Given the description of an element on the screen output the (x, y) to click on. 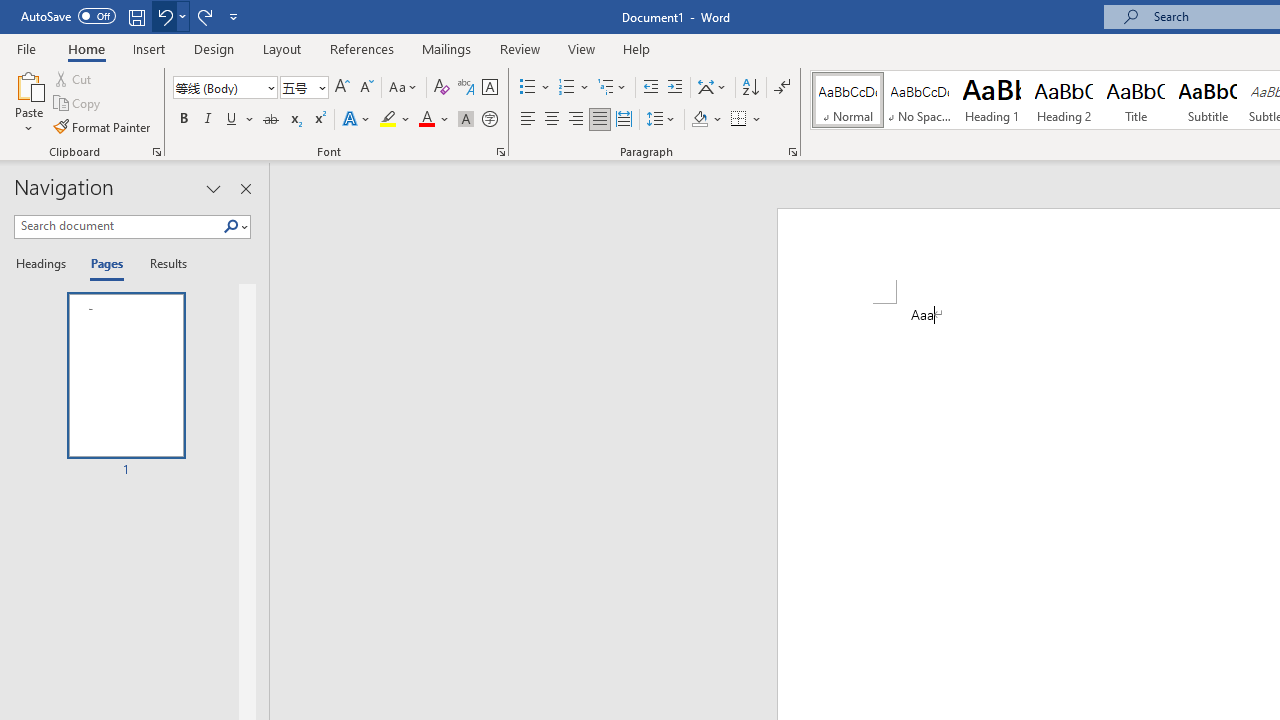
Bold (183, 119)
Layout (282, 48)
Character Border (489, 87)
Heading 1 (991, 100)
Subscript (294, 119)
Multilevel List (613, 87)
Paragraph... (792, 151)
Undo Increase Indent (170, 15)
Customize Quick Access Toolbar (234, 15)
Grow Font (342, 87)
Text Highlight Color Yellow (388, 119)
References (362, 48)
